Given the description of an element on the screen output the (x, y) to click on. 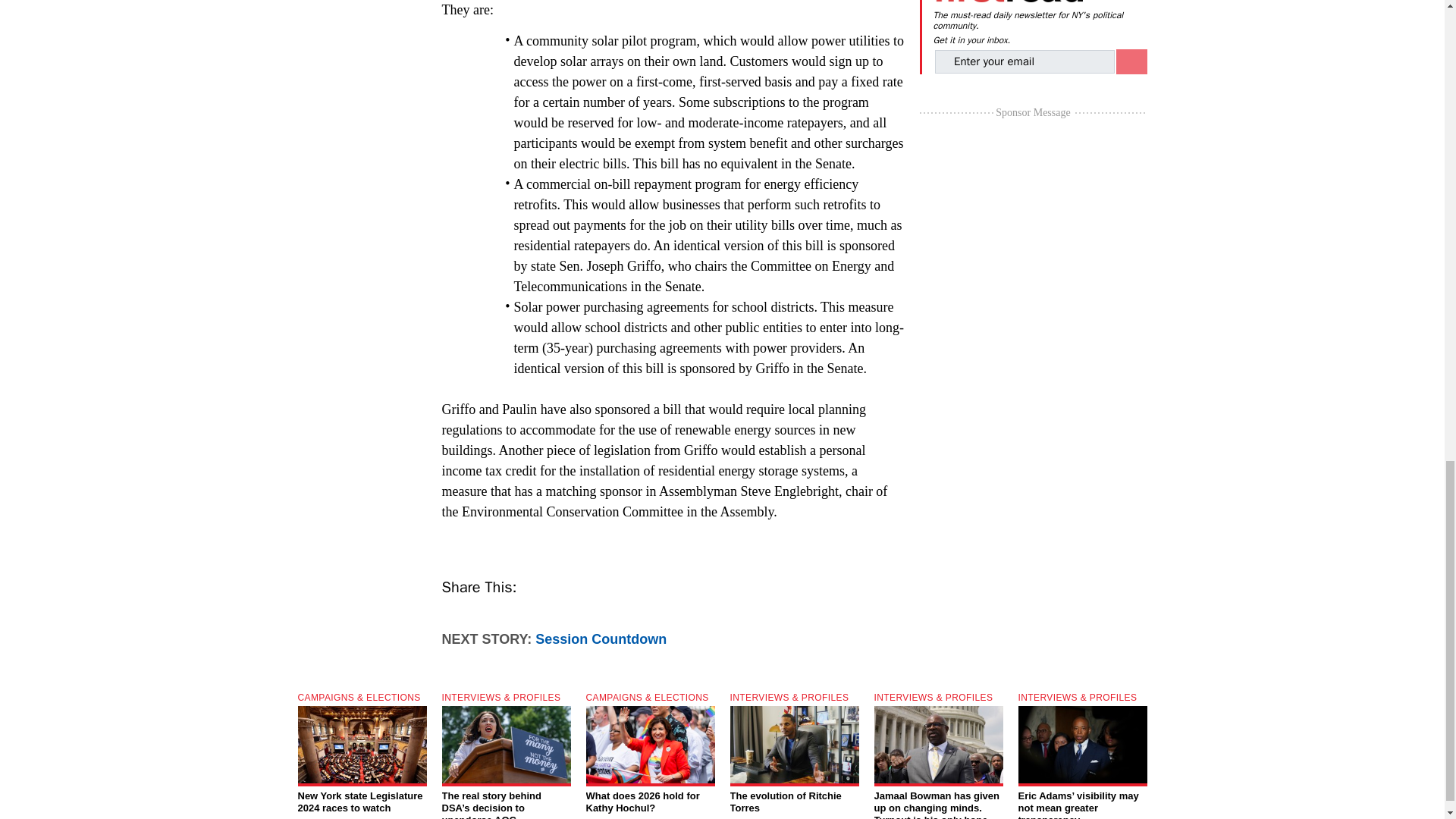
3rd party ad content (1032, 217)
